Given the description of an element on the screen output the (x, y) to click on. 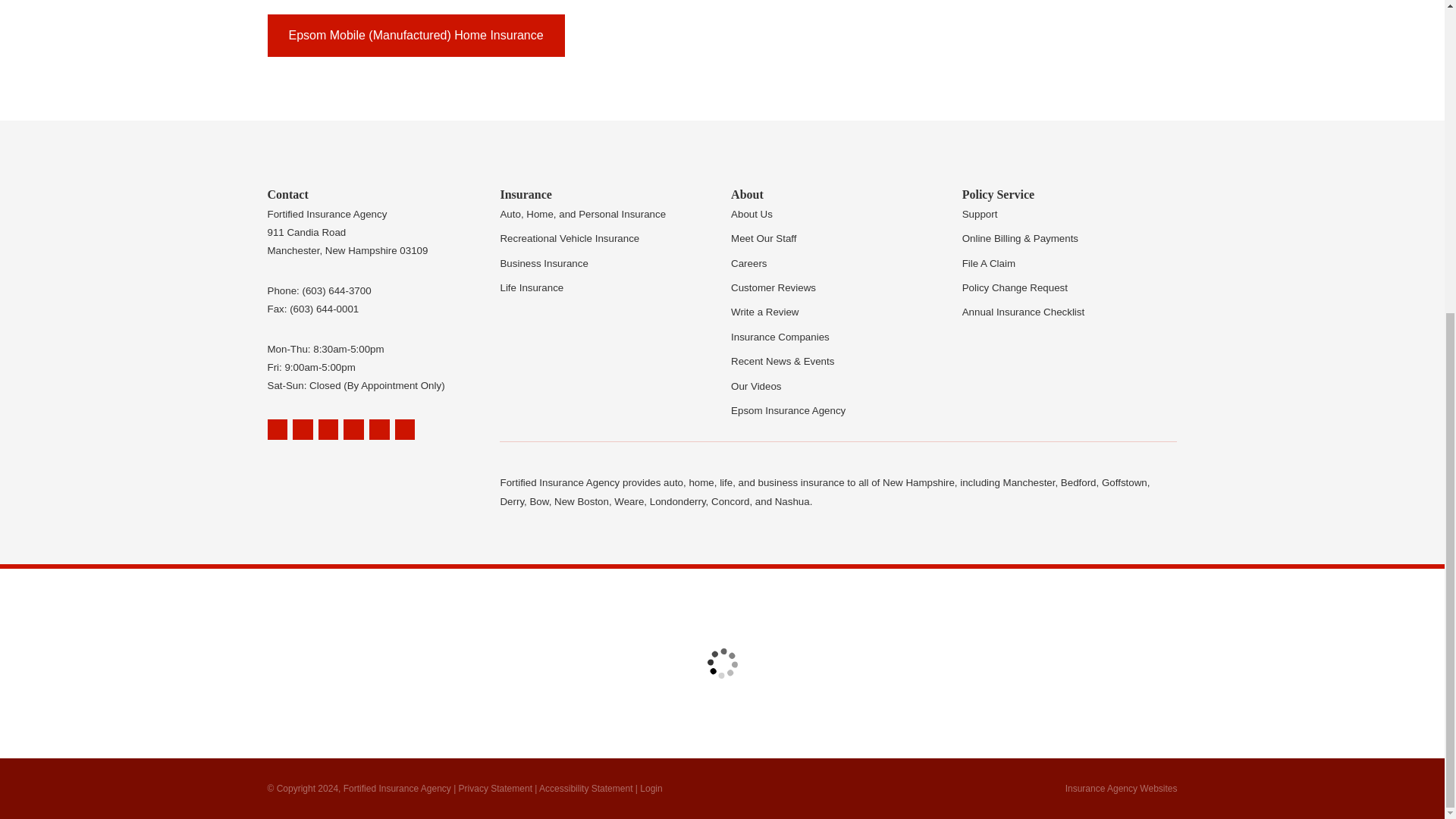
LinkedIn (353, 429)
tiktok-icon-red (276, 456)
Facebook (328, 429)
YouTube (379, 429)
Instagram (404, 429)
Google Maps (276, 429)
Yelp (302, 429)
